Given the description of an element on the screen output the (x, y) to click on. 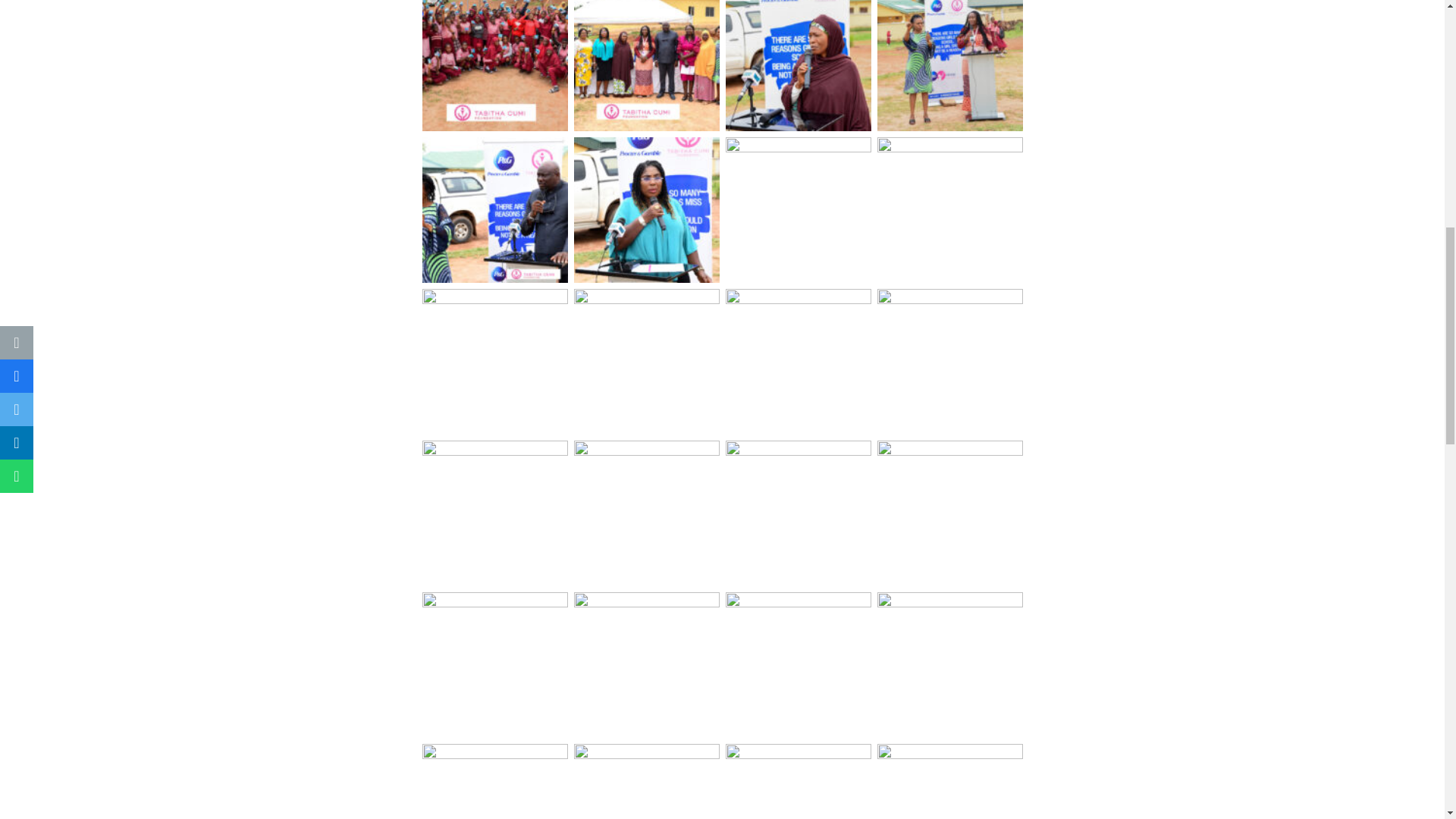
11 (797, 361)
10 (646, 361)
6 (646, 209)
7 (797, 209)
14 (646, 512)
2 (646, 67)
12 (949, 361)
15 (797, 512)
5 (494, 209)
4 (949, 67)
